Given the description of an element on the screen output the (x, y) to click on. 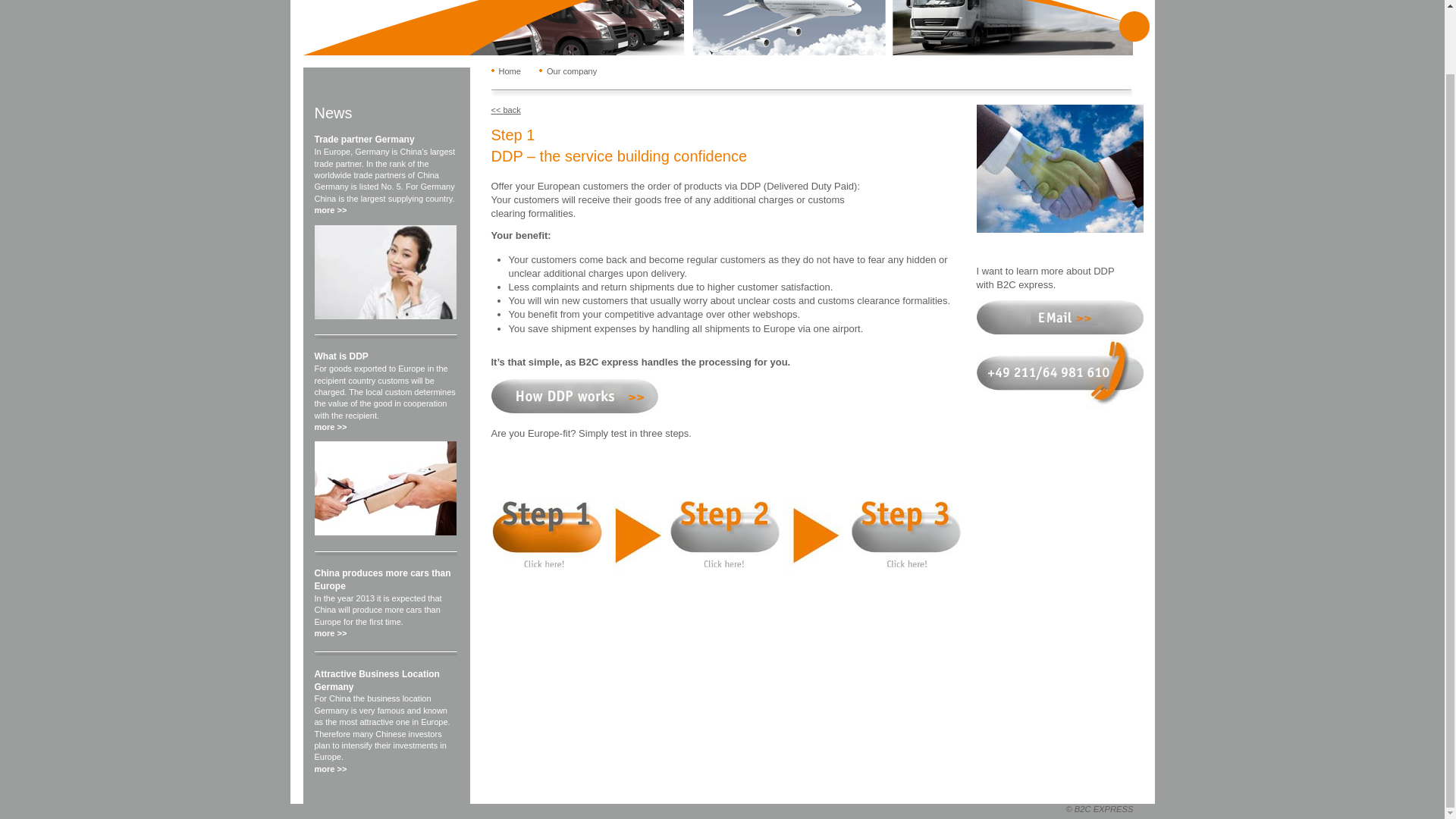
Our company (568, 71)
Home (507, 71)
